Given the description of an element on the screen output the (x, y) to click on. 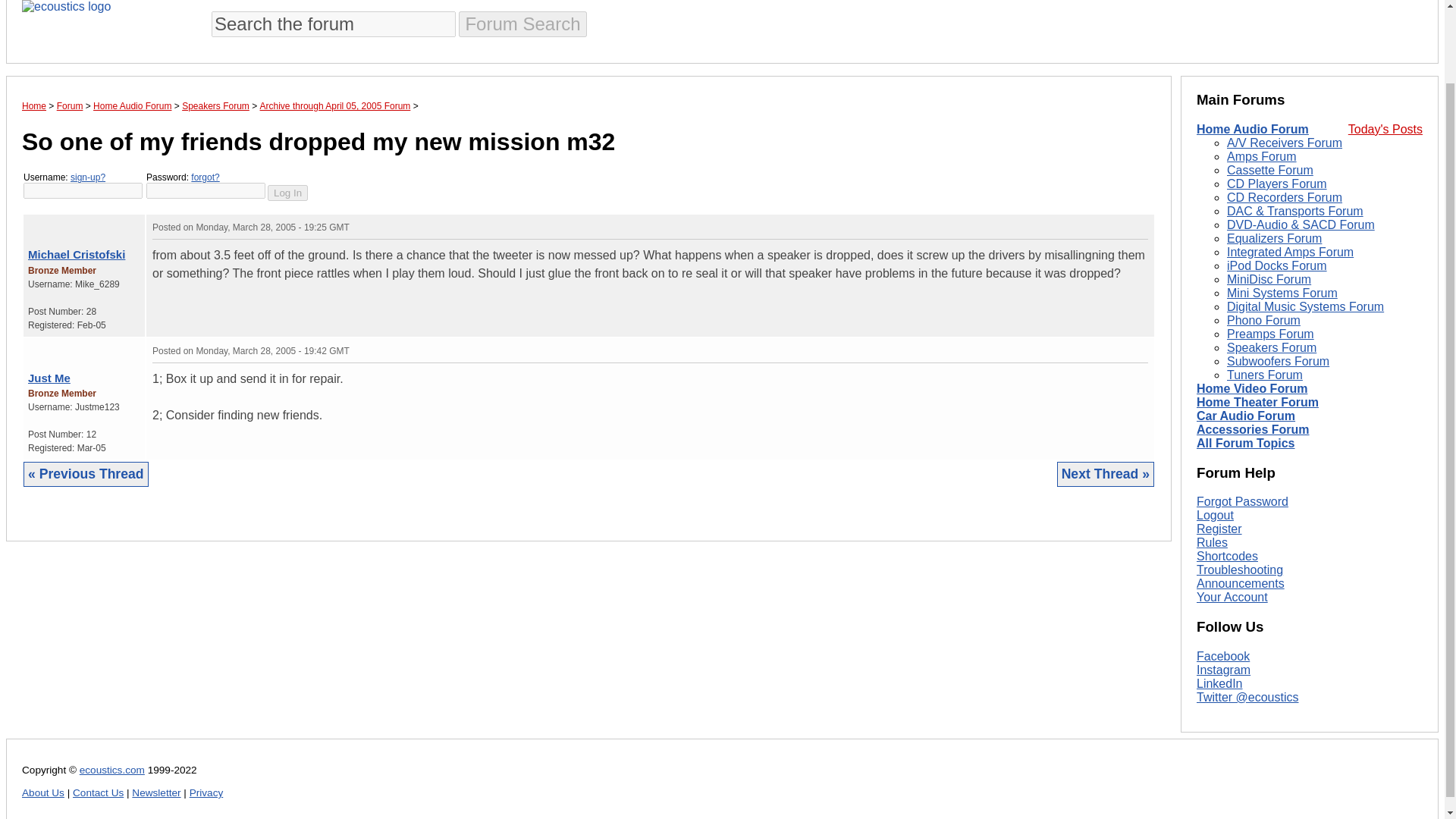
Michael Cristofski (76, 254)
Just Me (48, 377)
Forgot your password? (204, 176)
last post (50, 347)
Log In (287, 192)
Home Audio Forum (1252, 128)
Archive through April 05, 2005 Forum (335, 105)
Edit Post (1140, 226)
last post (50, 224)
Log In (287, 192)
Forum Search (522, 23)
Edit Post (1140, 349)
previous post (41, 347)
forgot? (204, 176)
link to this post (68, 347)
